Given the description of an element on the screen output the (x, y) to click on. 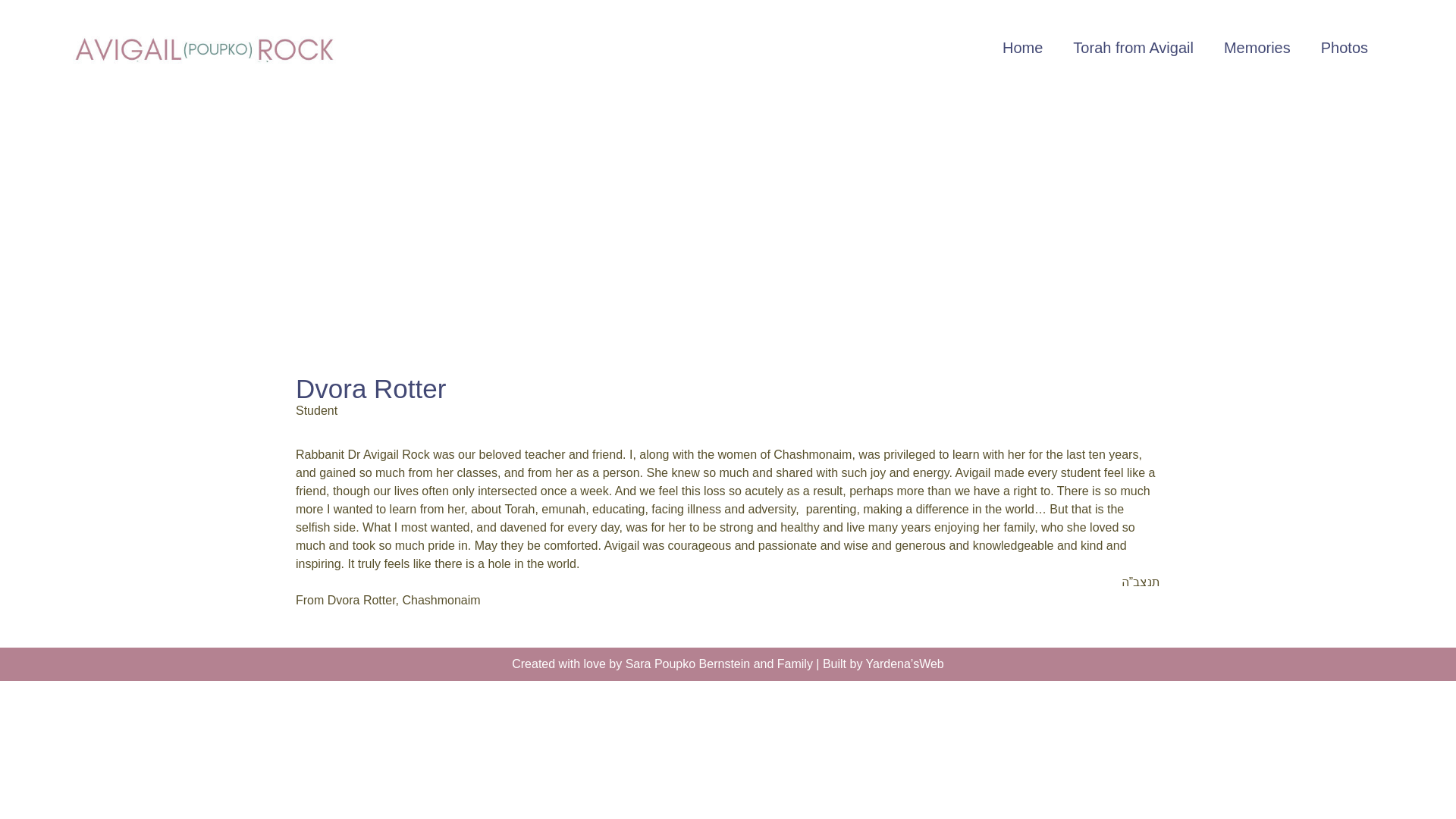
Home (1022, 47)
Memories (1257, 47)
Photos (1344, 47)
Torah from Avigail (1133, 47)
